Given the description of an element on the screen output the (x, y) to click on. 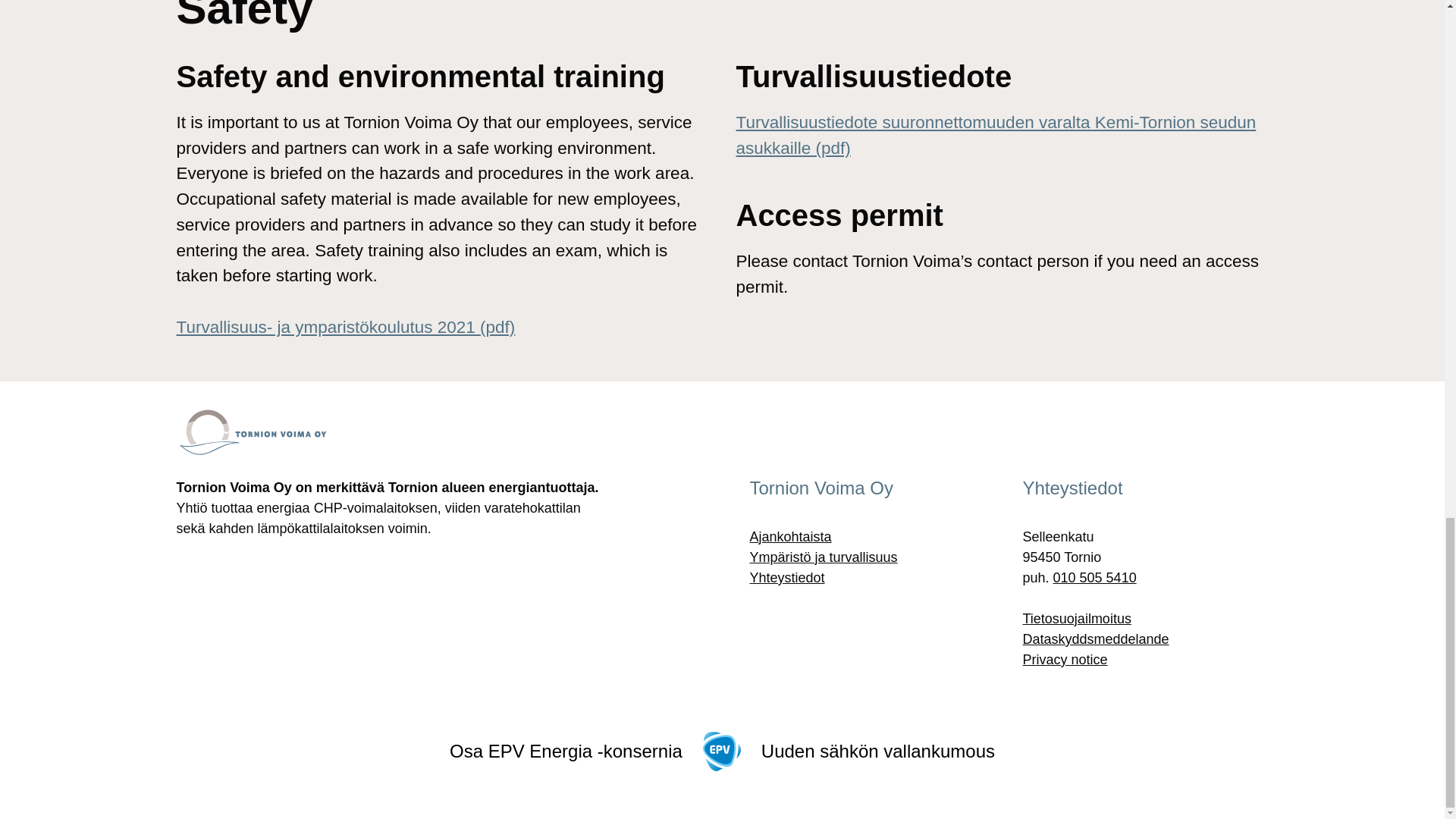
010 505 5410 (1094, 577)
Yhteystiedot (786, 577)
Tietosuojailmoitus (1076, 618)
Privacy notice (1064, 659)
Ajankohtaista (790, 536)
Dataskyddsmeddelande (1095, 639)
